Given the description of an element on the screen output the (x, y) to click on. 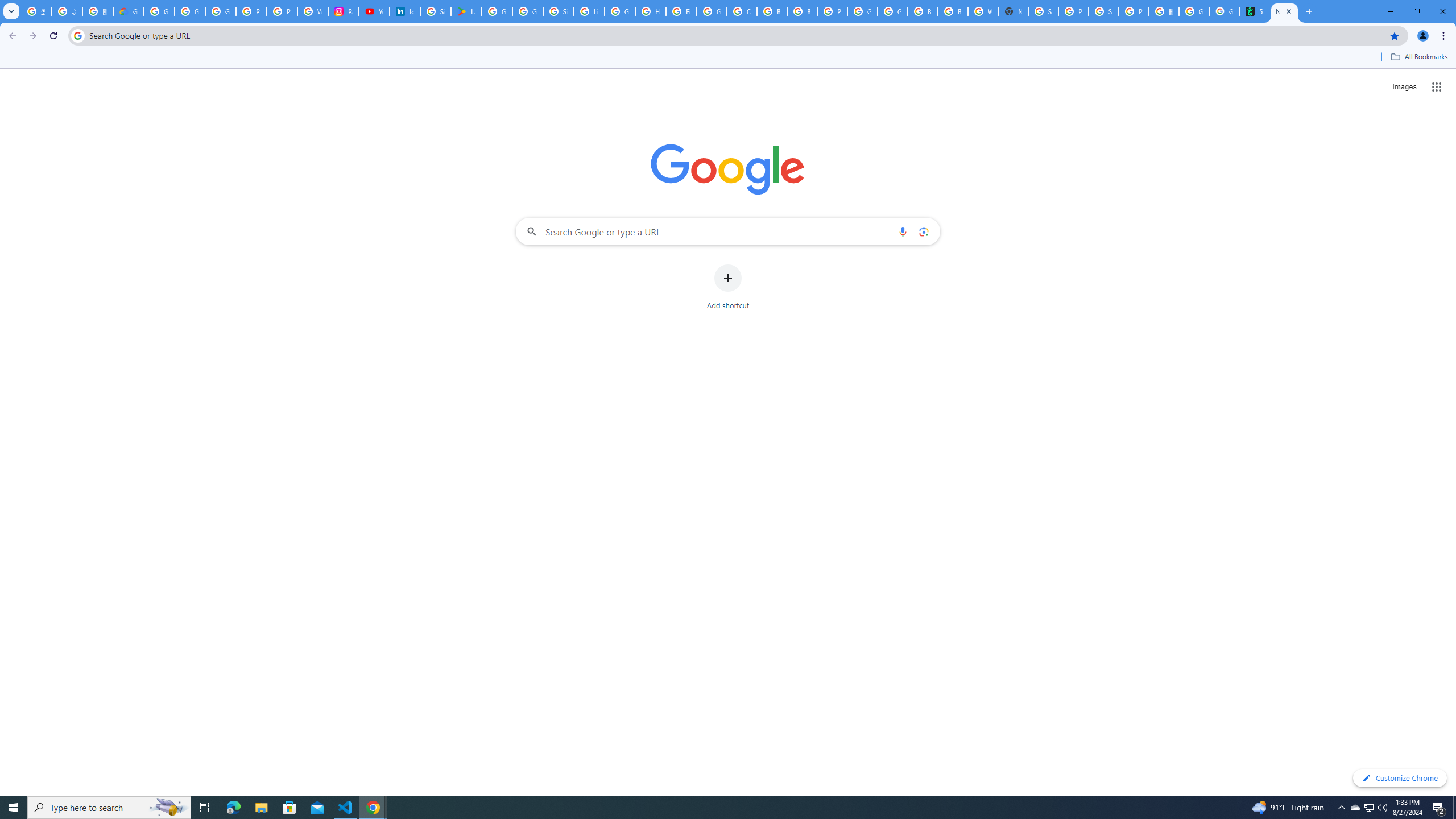
Browse Chrome as a guest - Computer - Google Chrome Help (922, 11)
Sign in - Google Accounts (434, 11)
YouTube Culture & Trends - On The Rise: Handcam Videos (373, 11)
